Given the description of an element on the screen output the (x, y) to click on. 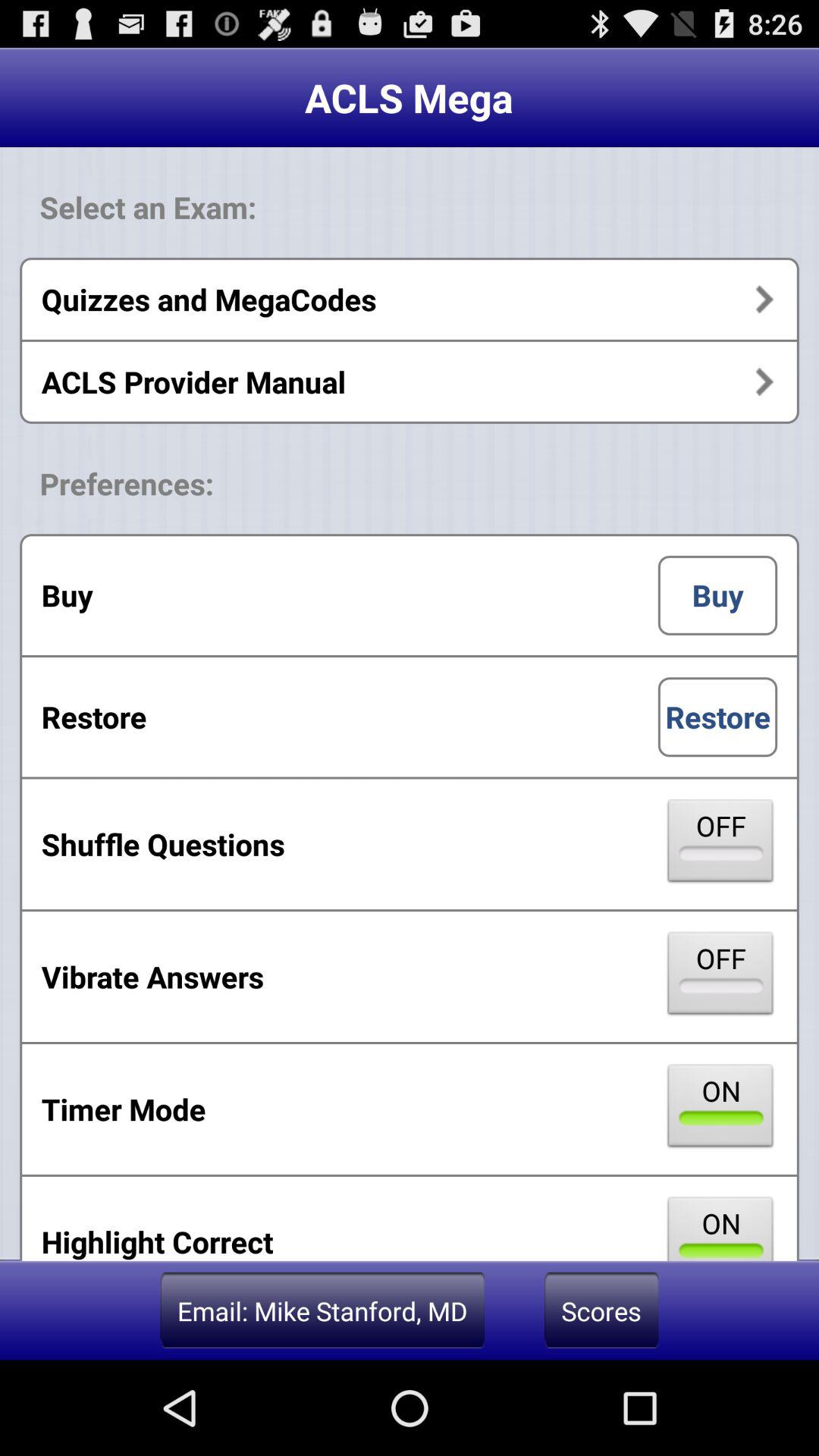
turn on icon to the right of the email mike stanford (601, 1310)
